Given the description of an element on the screen output the (x, y) to click on. 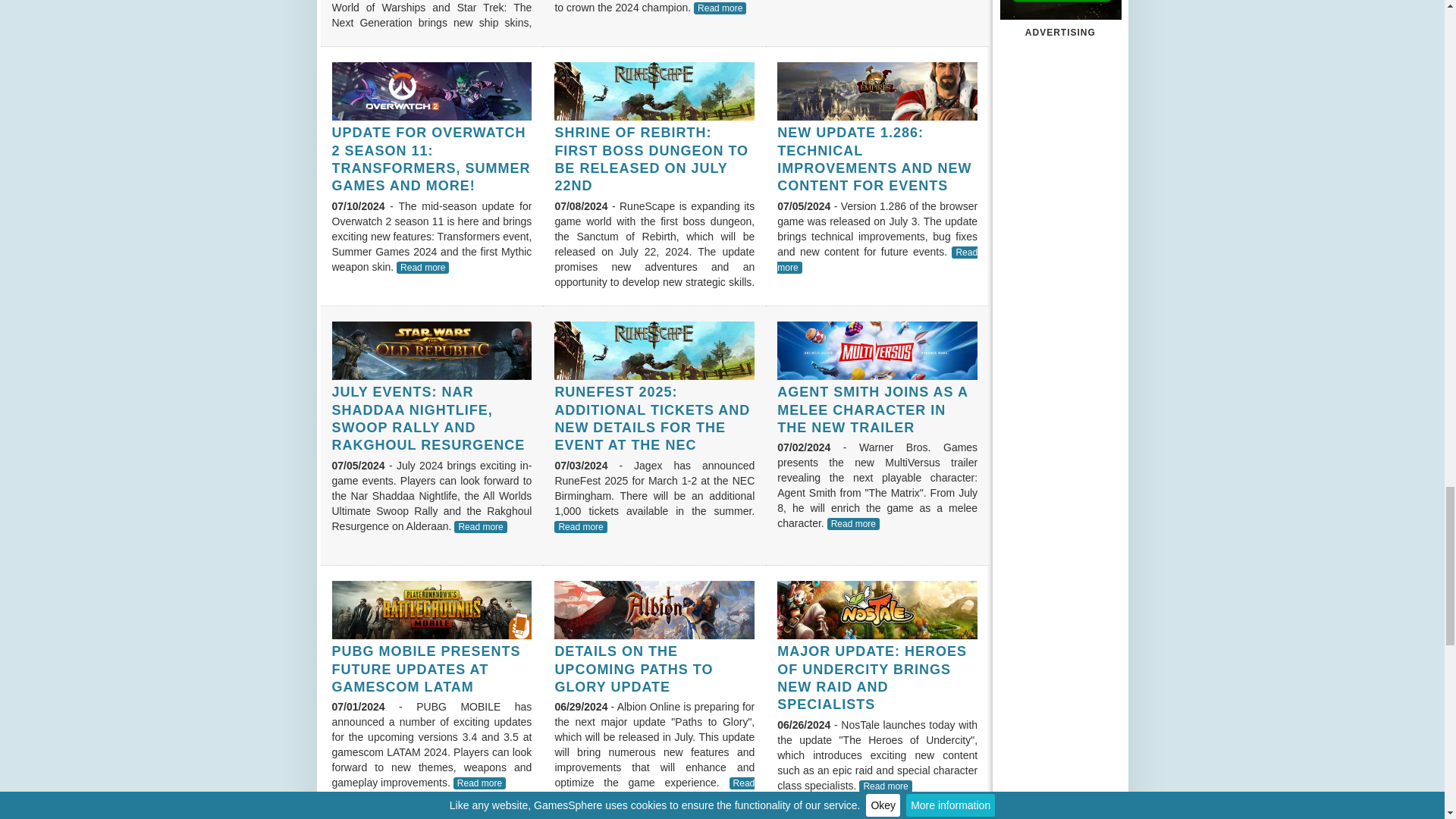
Runescape (654, 91)
Star Wars: The old Republic (431, 350)
Overwatch 2 (431, 91)
Runescape (654, 350)
Forge of Empires (876, 91)
